Given the description of an element on the screen output the (x, y) to click on. 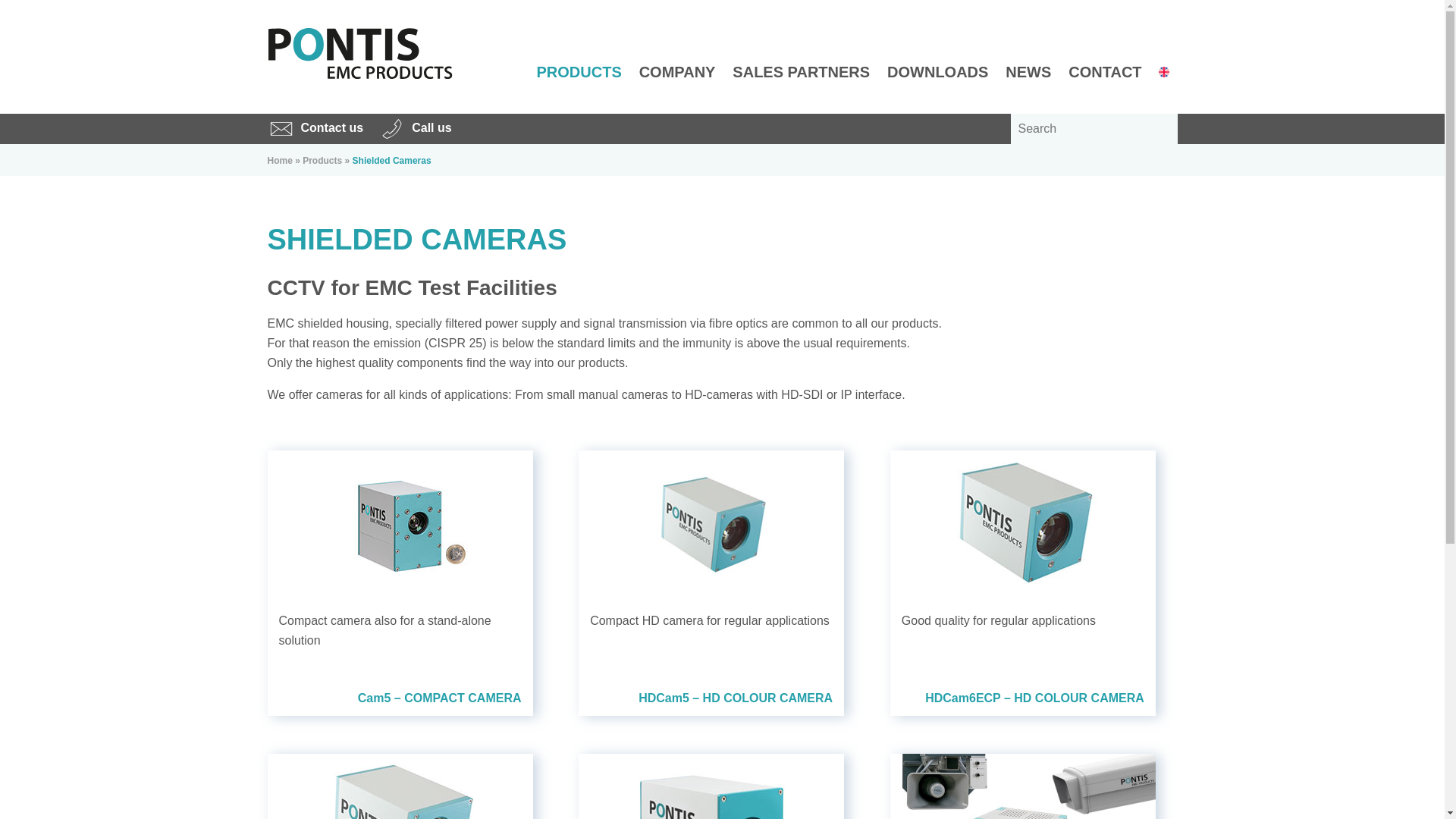
Products (322, 160)
NEWS (1027, 72)
PRODUCTS (578, 72)
CONTACT (1104, 72)
Home (279, 160)
COMPANY (677, 72)
DOWNLOADS (937, 72)
SALES PARTNERS (801, 72)
Call us (414, 128)
Contact us (314, 128)
